Given the description of an element on the screen output the (x, y) to click on. 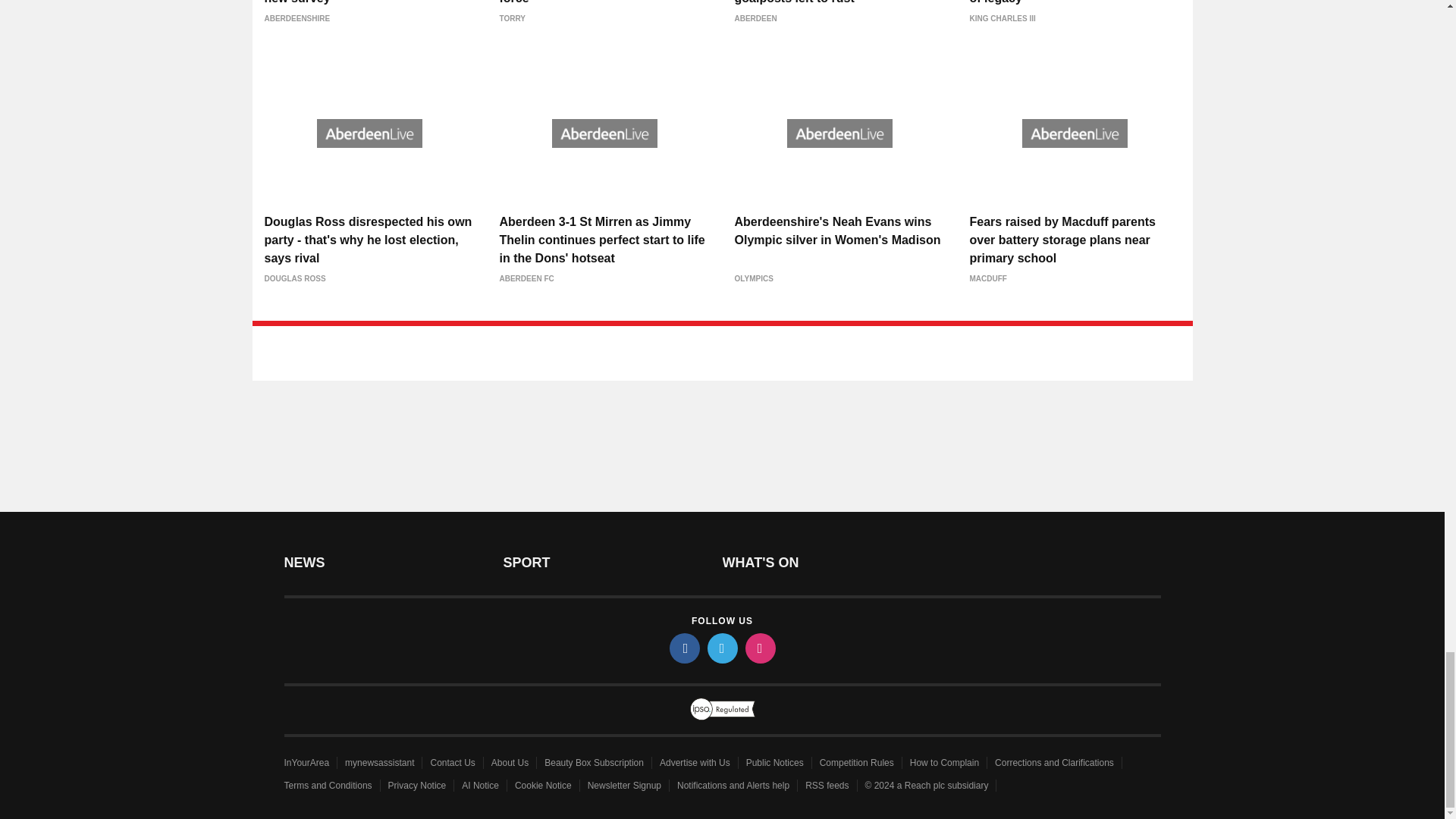
twitter (721, 648)
facebook (683, 648)
instagram (759, 648)
